Given the description of an element on the screen output the (x, y) to click on. 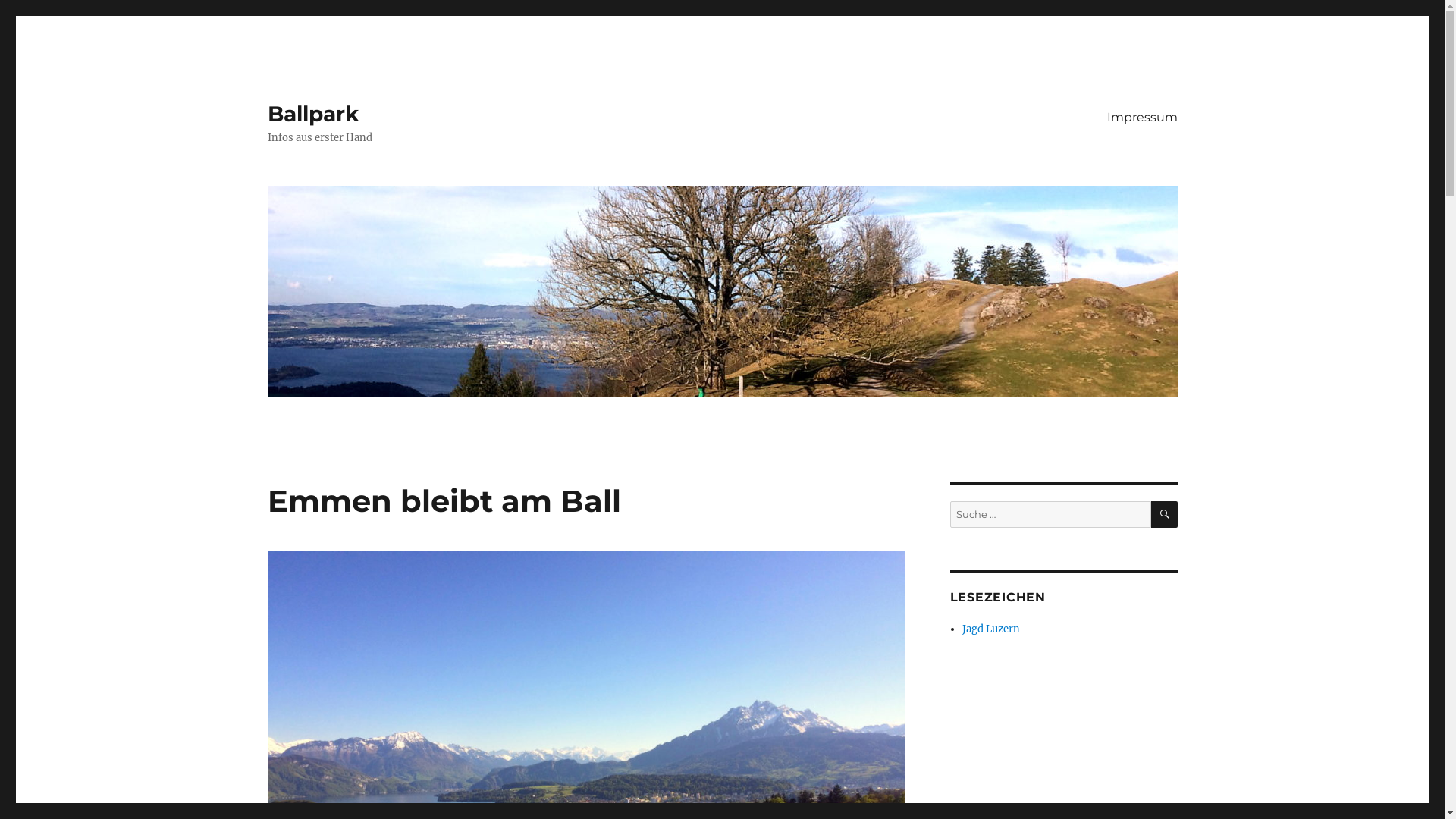
Jagd Luzern Element type: text (990, 628)
Emmen bleibt am Ball Element type: text (443, 500)
Ballpark Element type: text (311, 113)
SUCHEN Element type: text (1164, 514)
Impressum Element type: text (1142, 116)
